Given the description of an element on the screen output the (x, y) to click on. 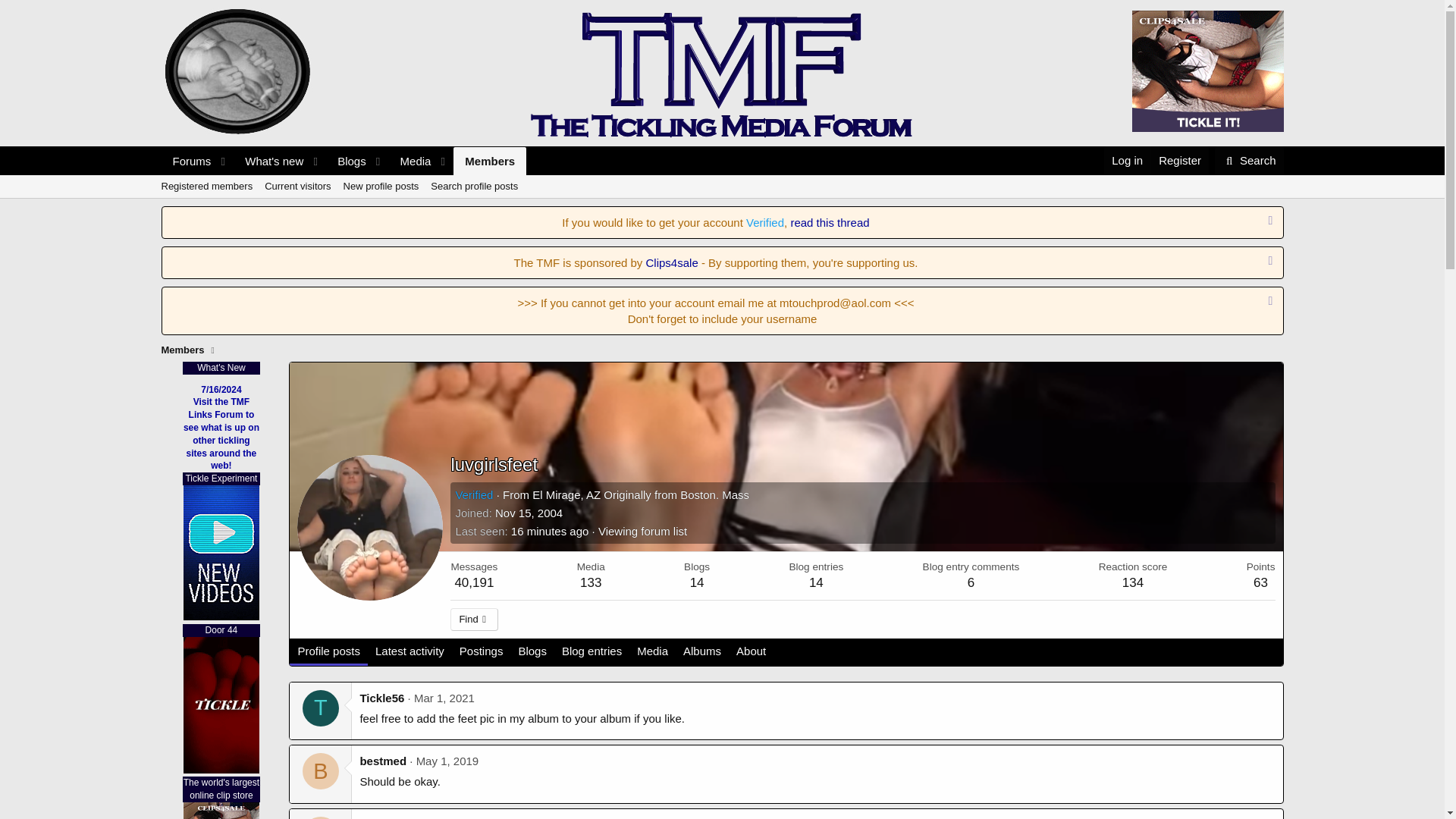
Register (343, 178)
Clips4Sale (1179, 160)
Trophy points (1206, 70)
Blogs (1260, 566)
Members (343, 161)
Nov 15, 2004 at 7:13 PM (346, 161)
What's new (488, 161)
Media (528, 512)
Search (268, 161)
Mar 1, 2021 at 9:56 AM (410, 161)
Apr 29, 2019 at 11:00 PM (1249, 160)
Jul 17, 2024 at 1:44 AM (443, 697)
